Given the description of an element on the screen output the (x, y) to click on. 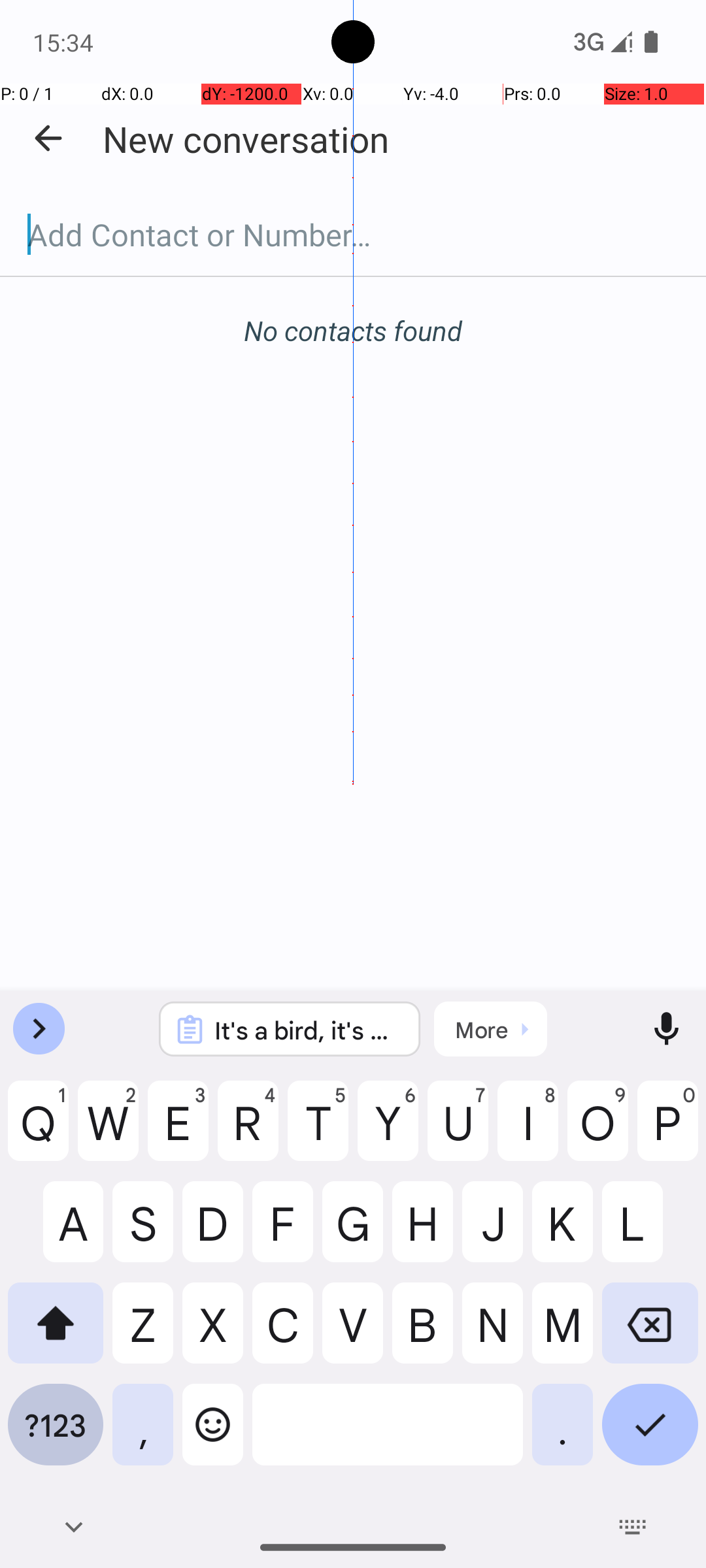
No contacts found Element type: android.widget.TextView (353, 329)
